Given the description of an element on the screen output the (x, y) to click on. 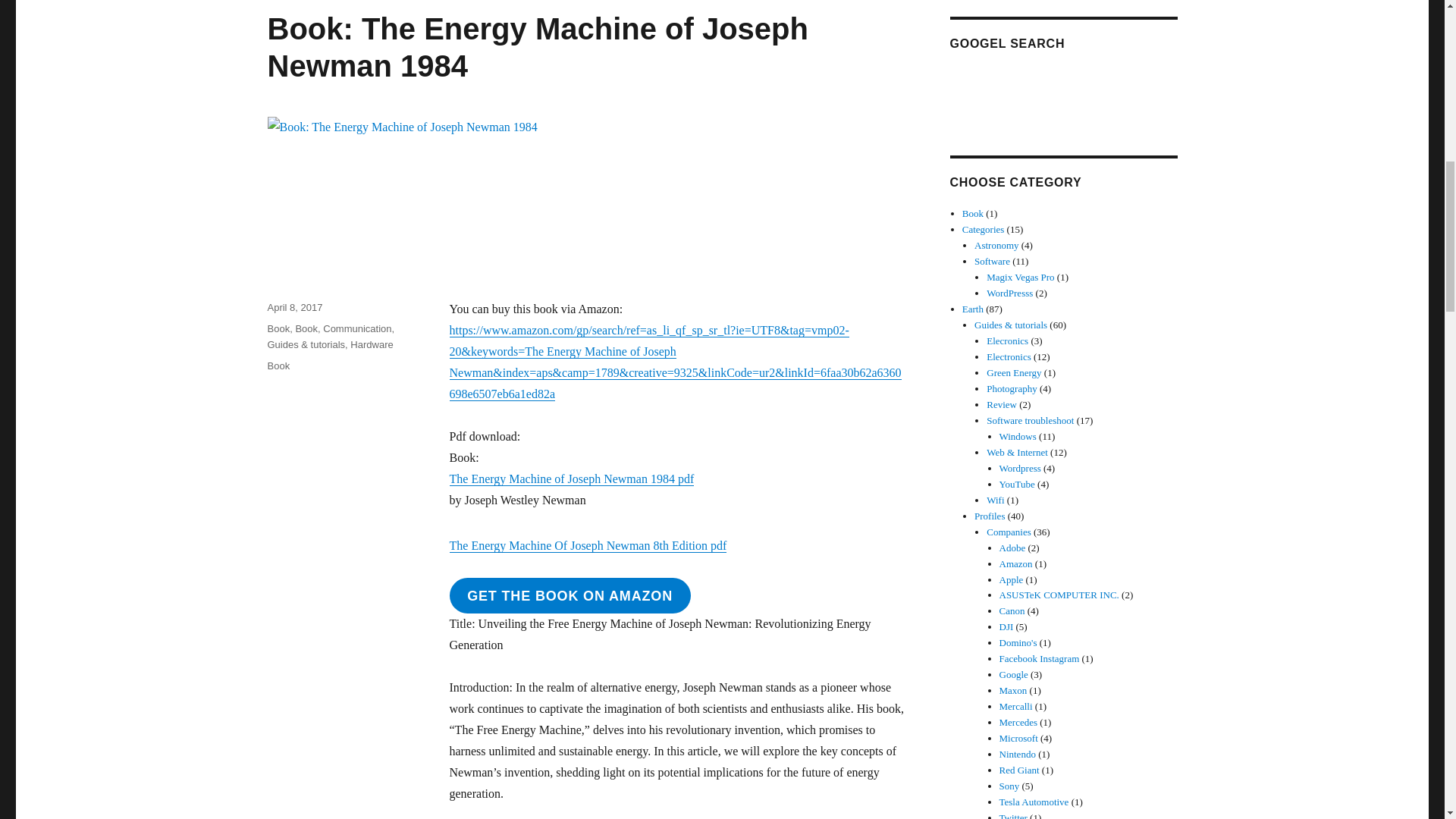
Astronomy (996, 244)
Software (992, 260)
Categories (983, 229)
Communication (357, 328)
The Energy Machine Of Joseph Newman 8th Edition pdf (587, 545)
Book (277, 365)
Book (973, 213)
Book (277, 328)
GET THE BOOK ON AMAZON (569, 595)
April 8, 2017 (293, 307)
